Given the description of an element on the screen output the (x, y) to click on. 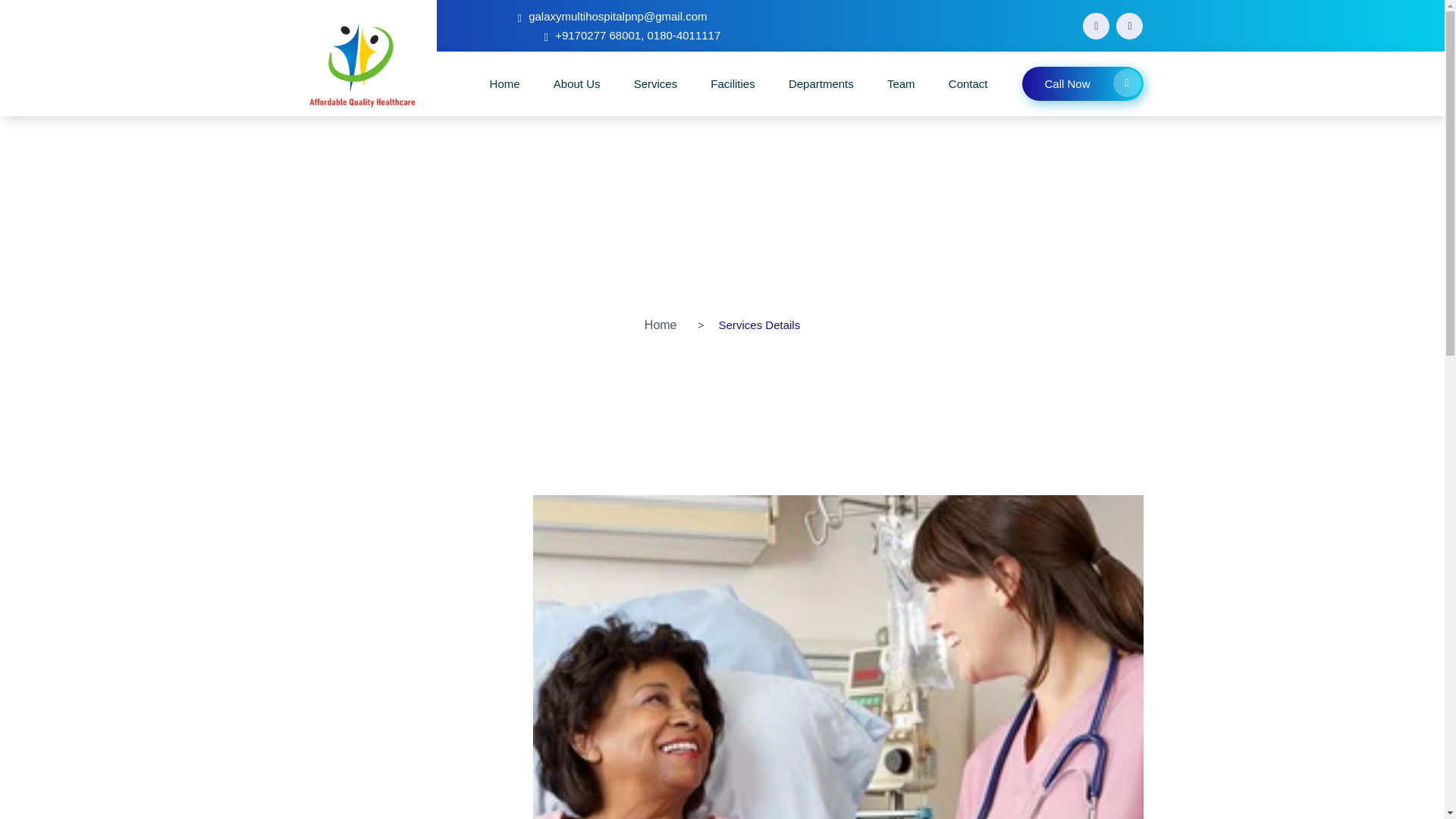
Facebook (1096, 25)
Departments (821, 83)
Home (661, 324)
Departments (821, 83)
Call Now (1082, 83)
Instagram (1129, 25)
